Given the description of an element on the screen output the (x, y) to click on. 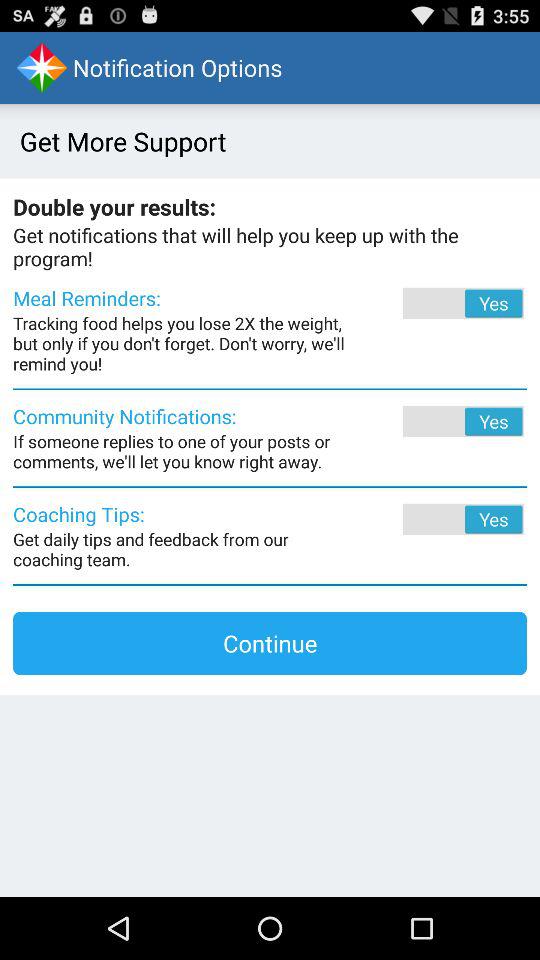
click on the text option yes to the right of the text community notifications (437, 421)
